Given the description of an element on the screen output the (x, y) to click on. 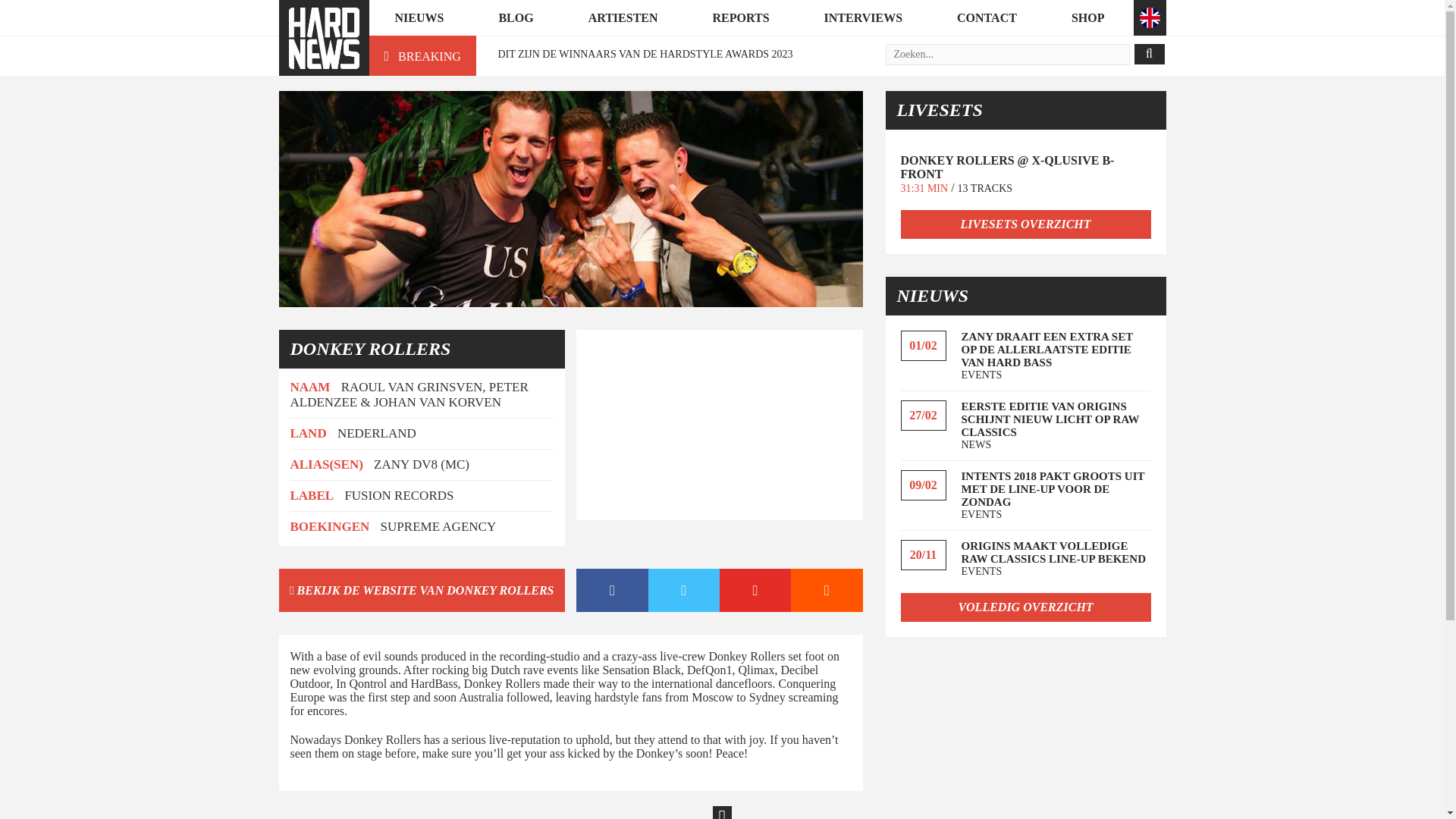
ARTIESTEN (623, 18)
INTERVIEWS (862, 18)
SHOP (1088, 18)
REPORTS (740, 18)
ZANY (391, 464)
LIVESETS OVERZICHT (1026, 224)
CONTACT (986, 18)
DIT ZIJN DE WINNAARS VAN DE HARDSTYLE AWARDS 2023 (644, 53)
BLOG (515, 18)
BEKIJK DE WEBSITE VAN DONKEY ROLLERS (421, 589)
